Given the description of an element on the screen output the (x, y) to click on. 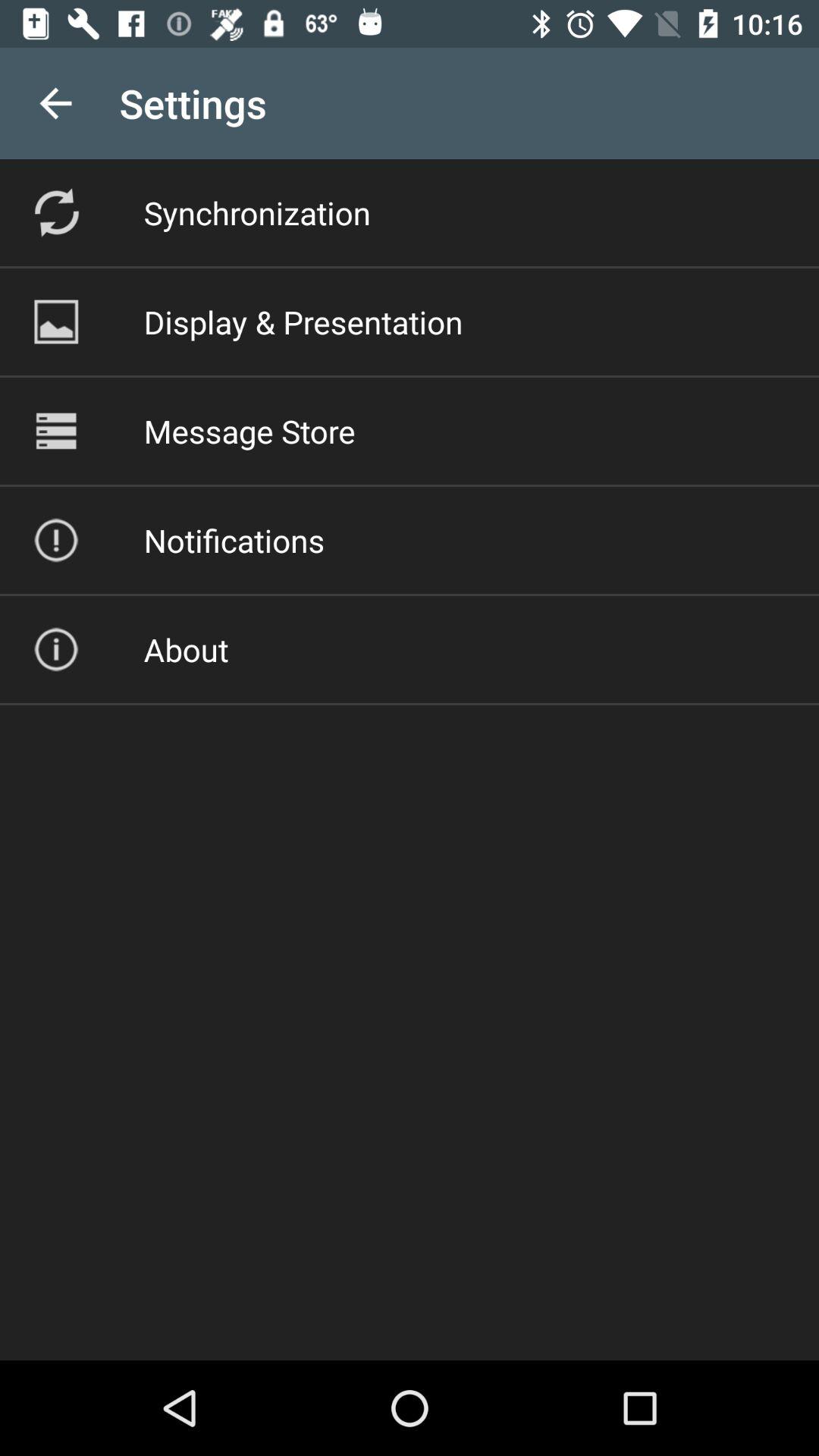
scroll until notifications (233, 539)
